Given the description of an element on the screen output the (x, y) to click on. 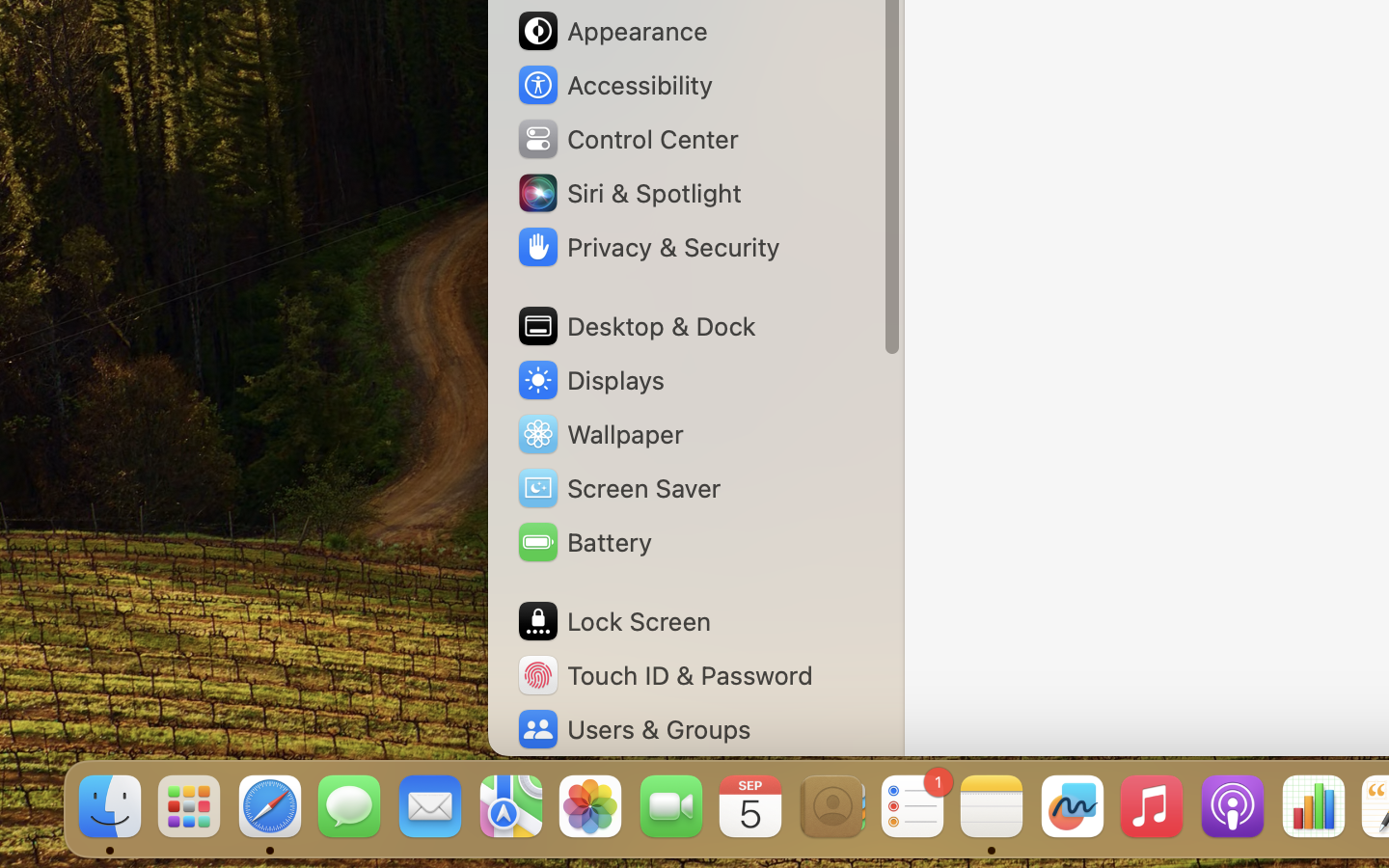
Desktop & Dock Element type: AXStaticText (635, 325)
Battery Element type: AXStaticText (583, 541)
Appearance Element type: AXStaticText (611, 30)
Lock Screen Element type: AXStaticText (613, 620)
Users & Groups Element type: AXStaticText (632, 728)
